Given the description of an element on the screen output the (x, y) to click on. 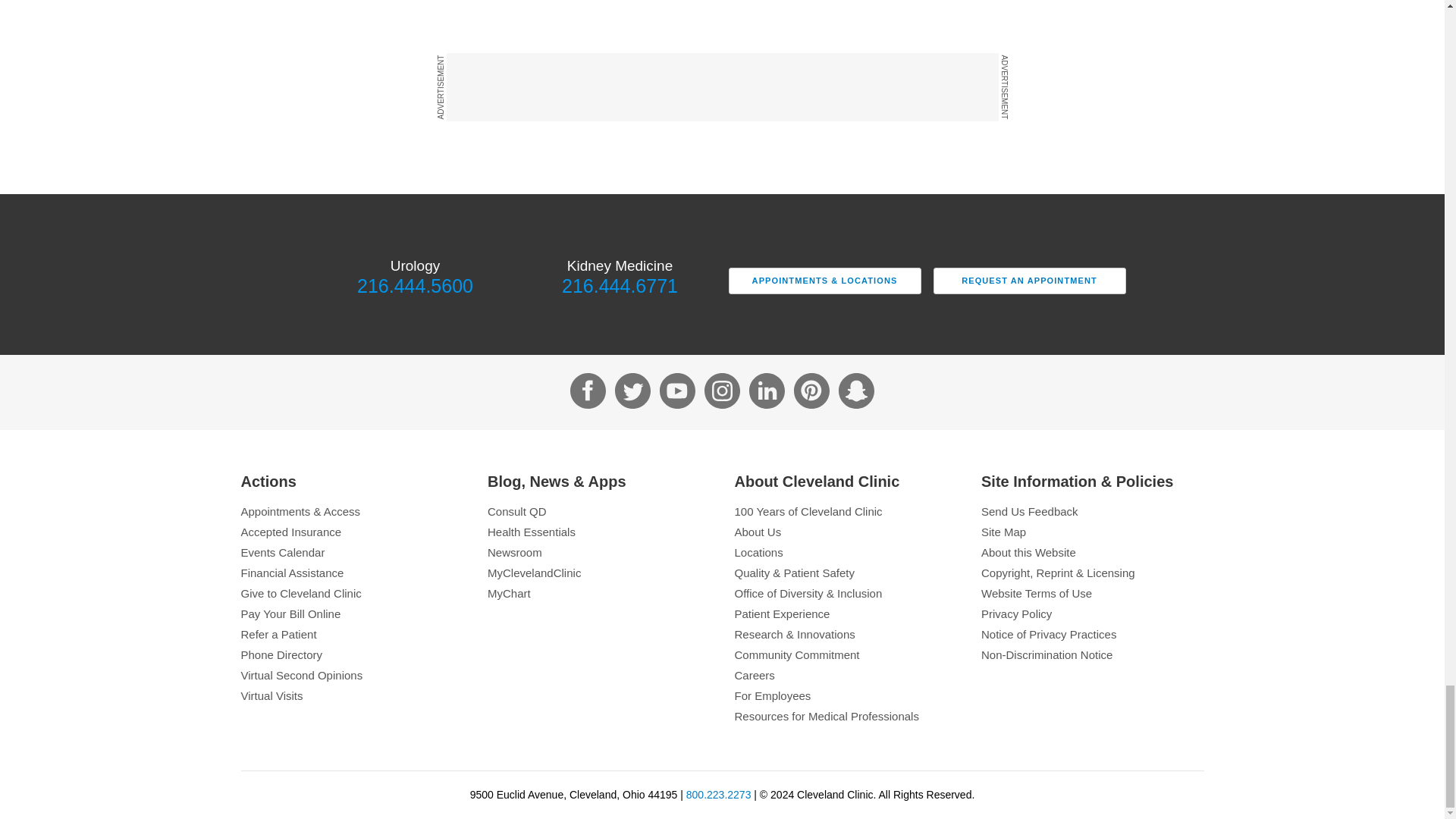
Accepted Insurance (352, 531)
Newsroom (598, 552)
Consult QD (598, 511)
Phone Directory (352, 654)
Careers (844, 674)
Send Us Feedback (1092, 511)
Health Essentials (598, 531)
Appointments (352, 511)
Pay Your Bill (352, 613)
